Given the description of an element on the screen output the (x, y) to click on. 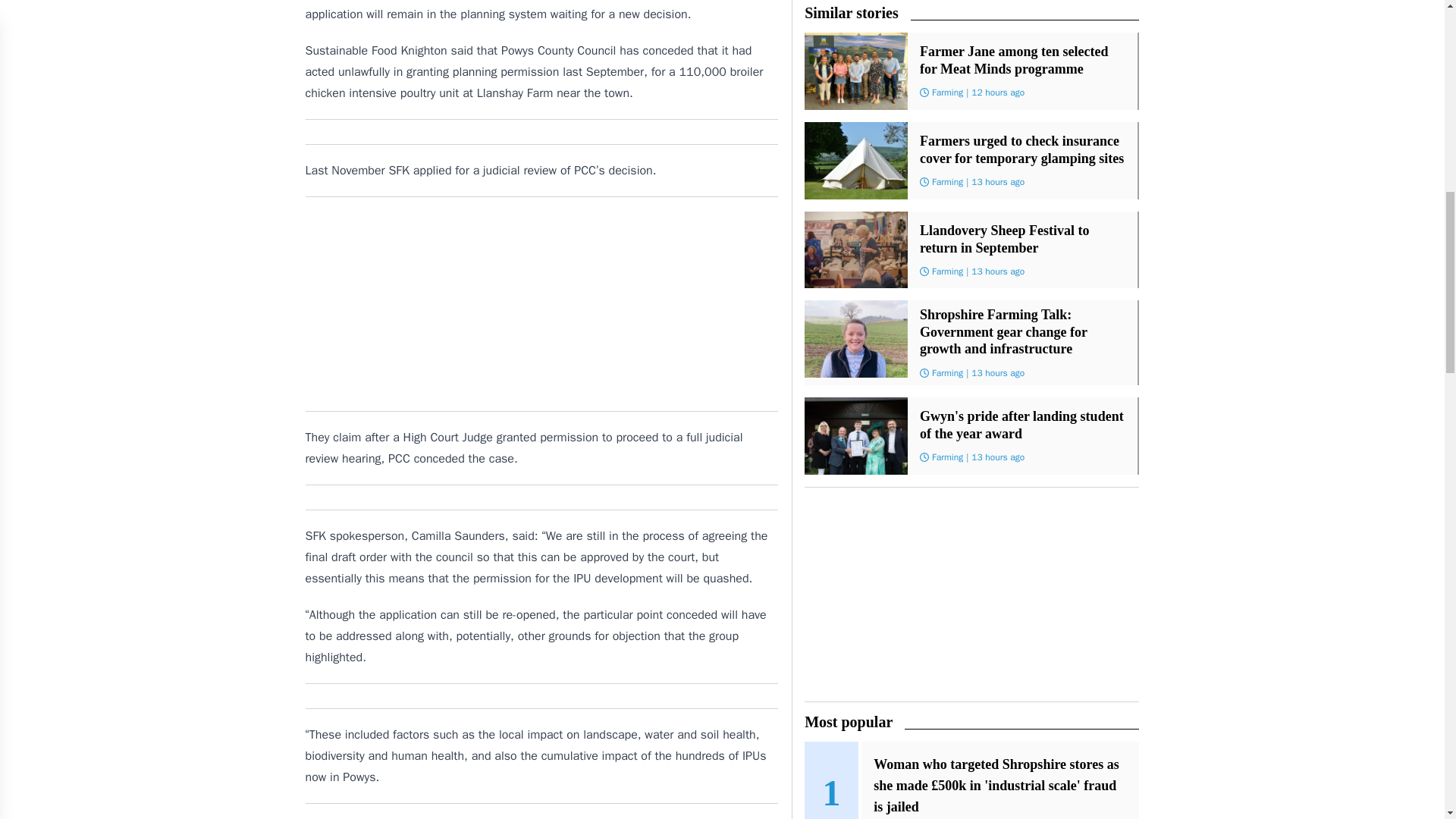
Farming (946, 457)
Farming (946, 92)
Farming (946, 271)
Farming (946, 372)
Farming (946, 182)
